Given the description of an element on the screen output the (x, y) to click on. 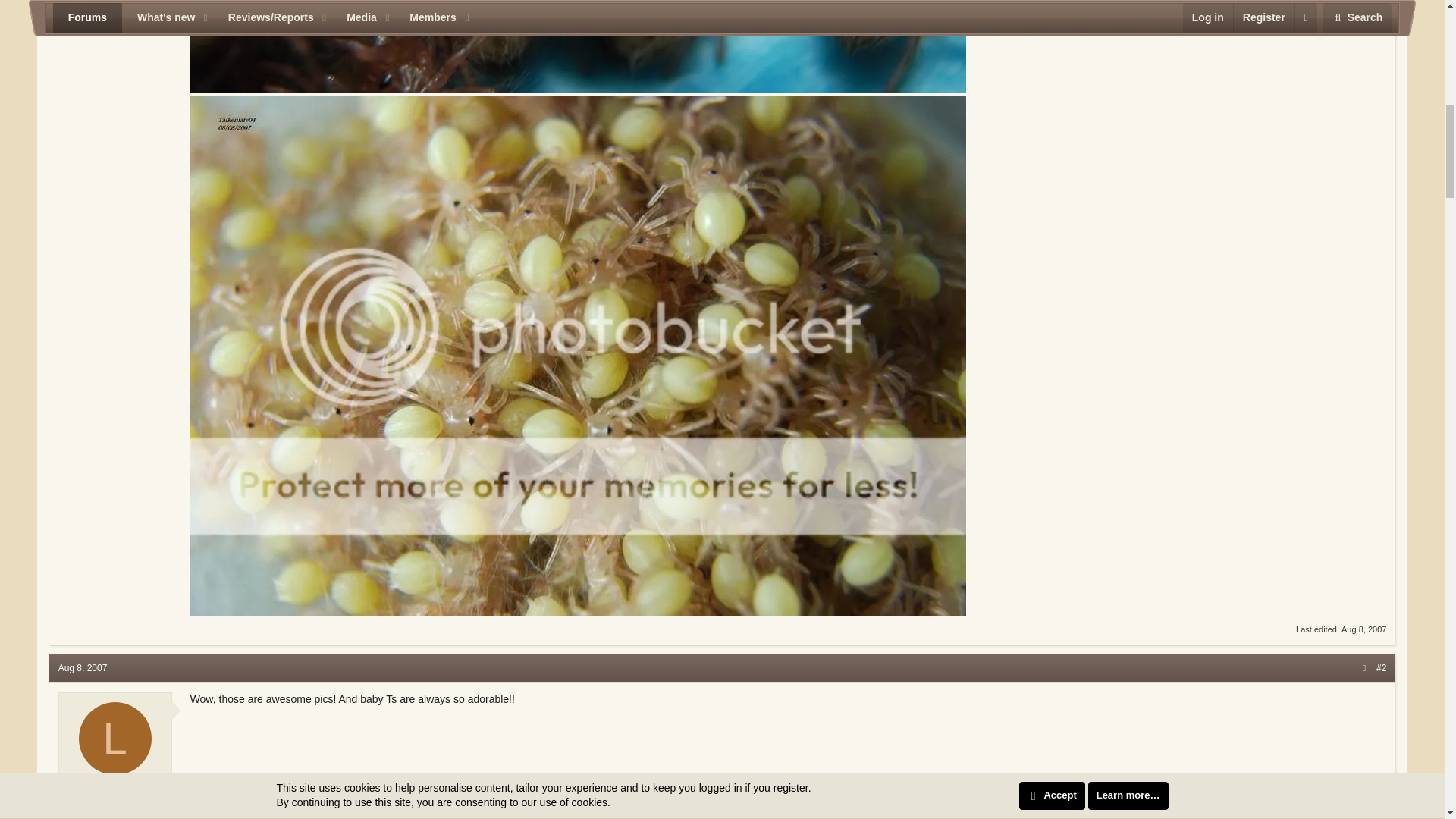
Aug 8, 2007 at 11:53 PM (82, 667)
Aug 8, 2007 at 11:35 PM (1363, 628)
